Given the description of an element on the screen output the (x, y) to click on. 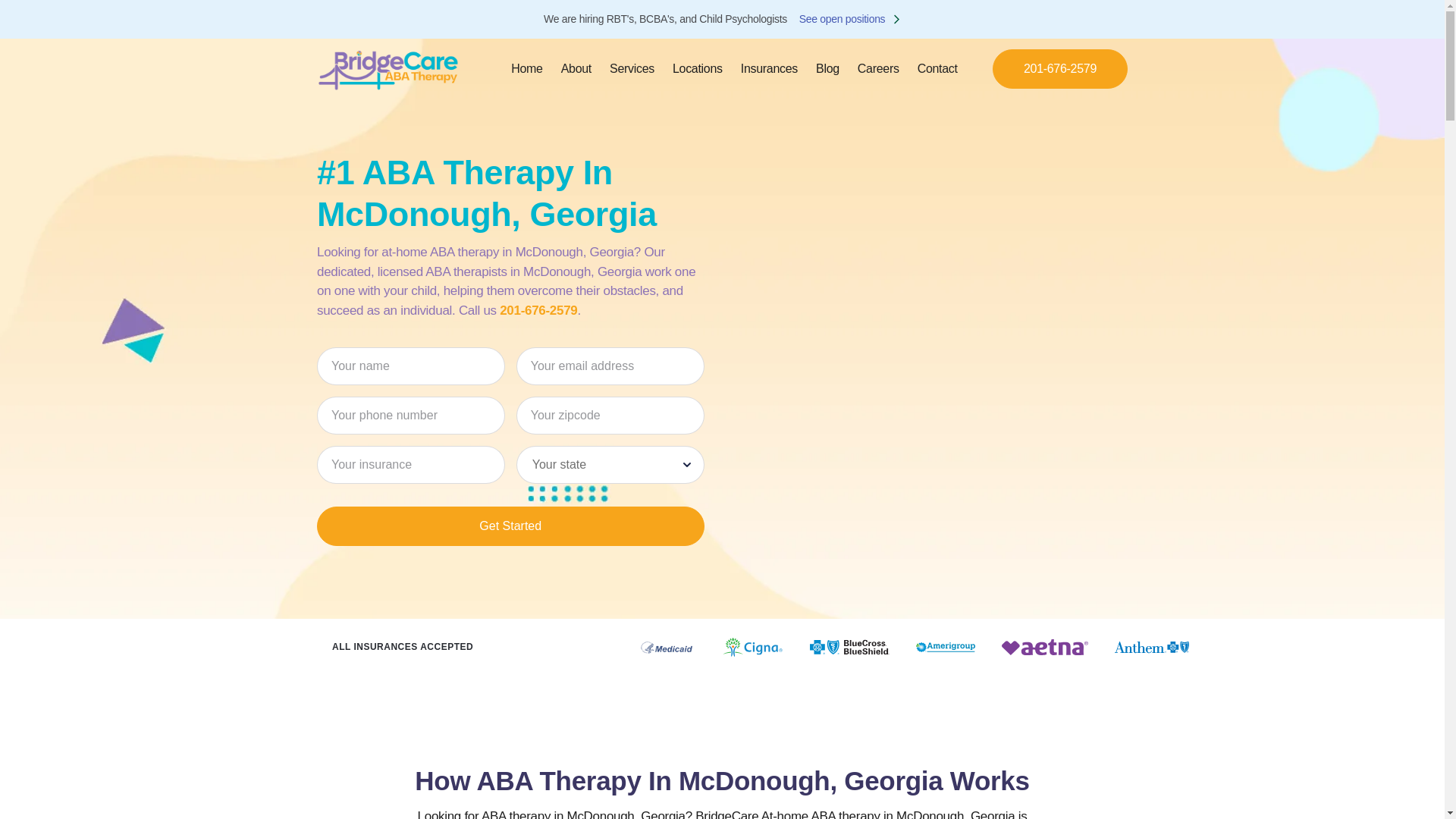
Insurances (769, 68)
Home (526, 68)
201-676-2579 (537, 310)
Get Started (510, 526)
Services (631, 68)
See open positions (851, 19)
Get Started (510, 526)
Locations (697, 68)
About (575, 68)
Contact (937, 68)
